Given the description of an element on the screen output the (x, y) to click on. 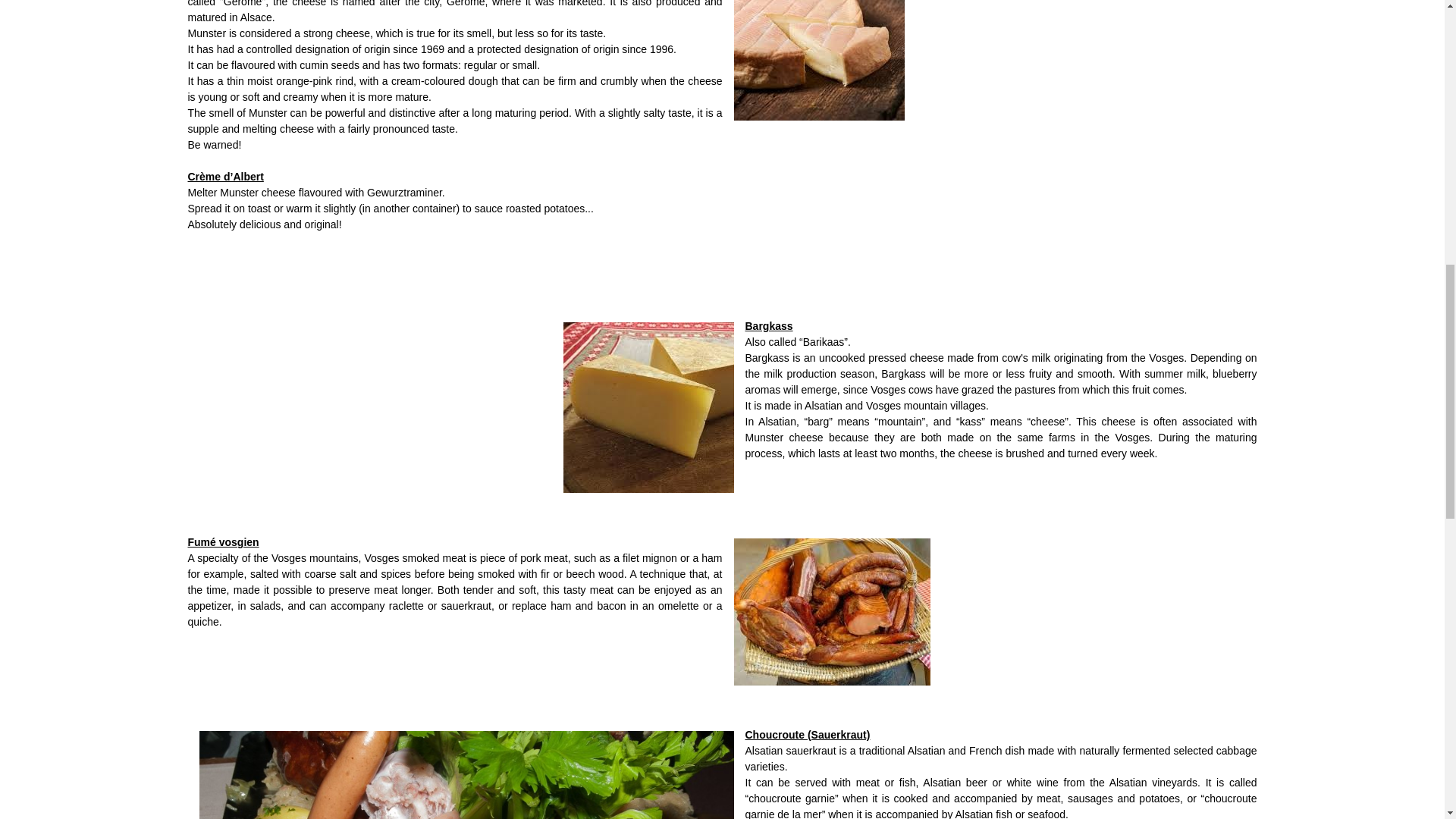
bargkass-634 (648, 406)
fume-636 (831, 611)
index4-628 (818, 34)
